Given the description of an element on the screen output the (x, y) to click on. 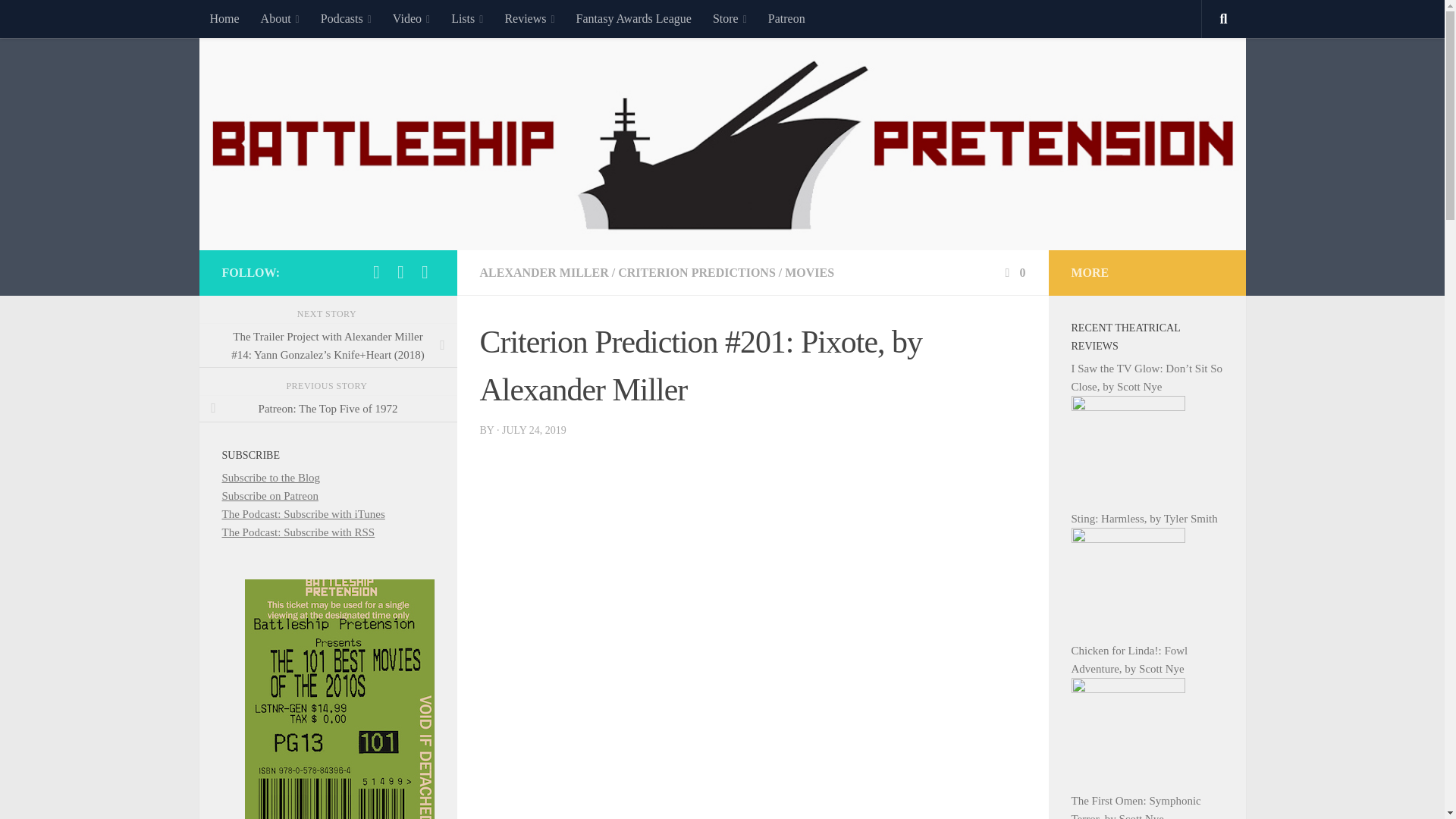
Skip to content (59, 20)
Fantasy Awards League (633, 18)
Video (411, 18)
About (280, 18)
Home (223, 18)
Patreon (786, 18)
Lists (467, 18)
Reviews (528, 18)
Store (729, 18)
Podcasts (345, 18)
